Given the description of an element on the screen output the (x, y) to click on. 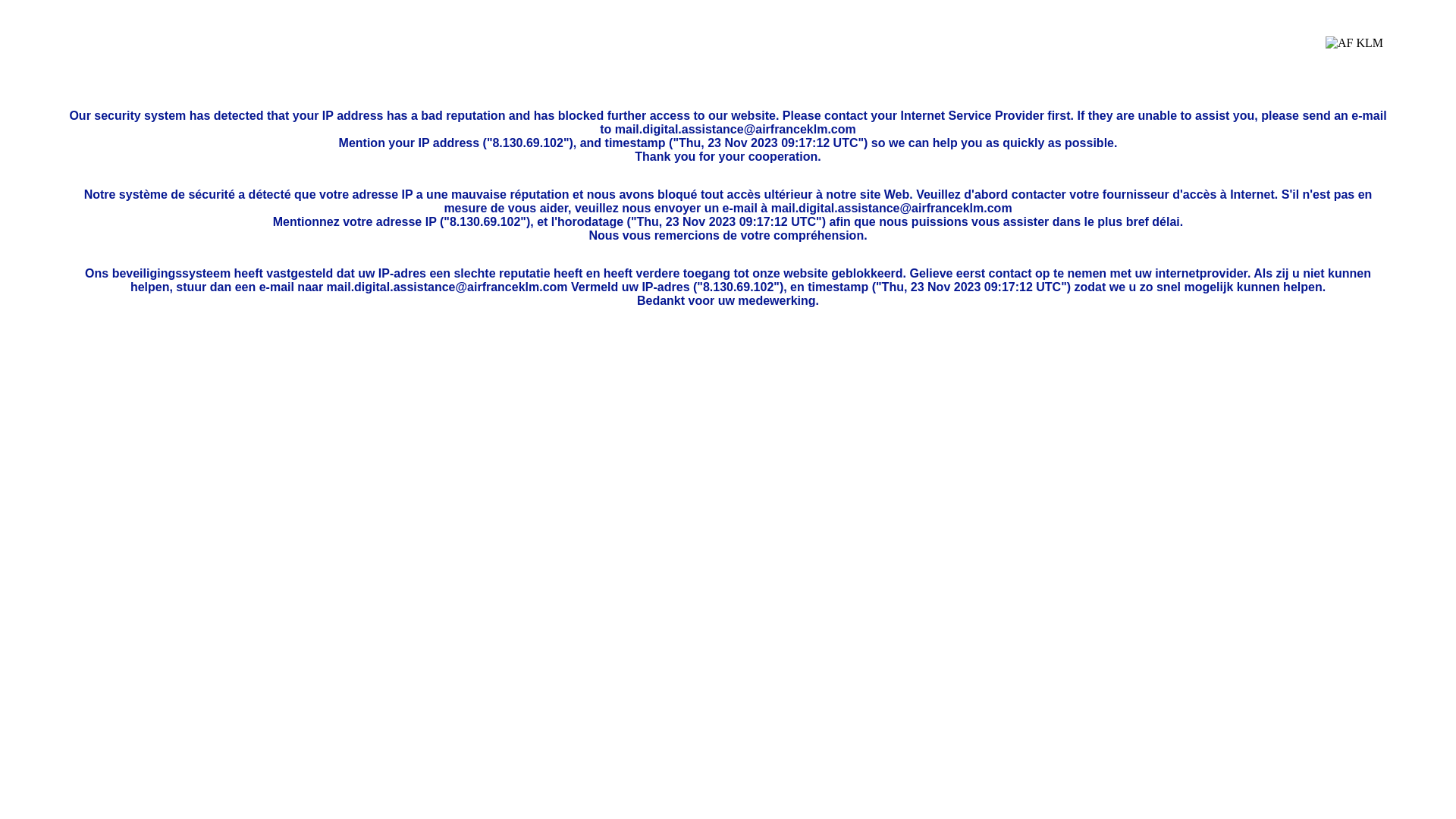
AF KLM Element type: hover (1354, 54)
